Given the description of an element on the screen output the (x, y) to click on. 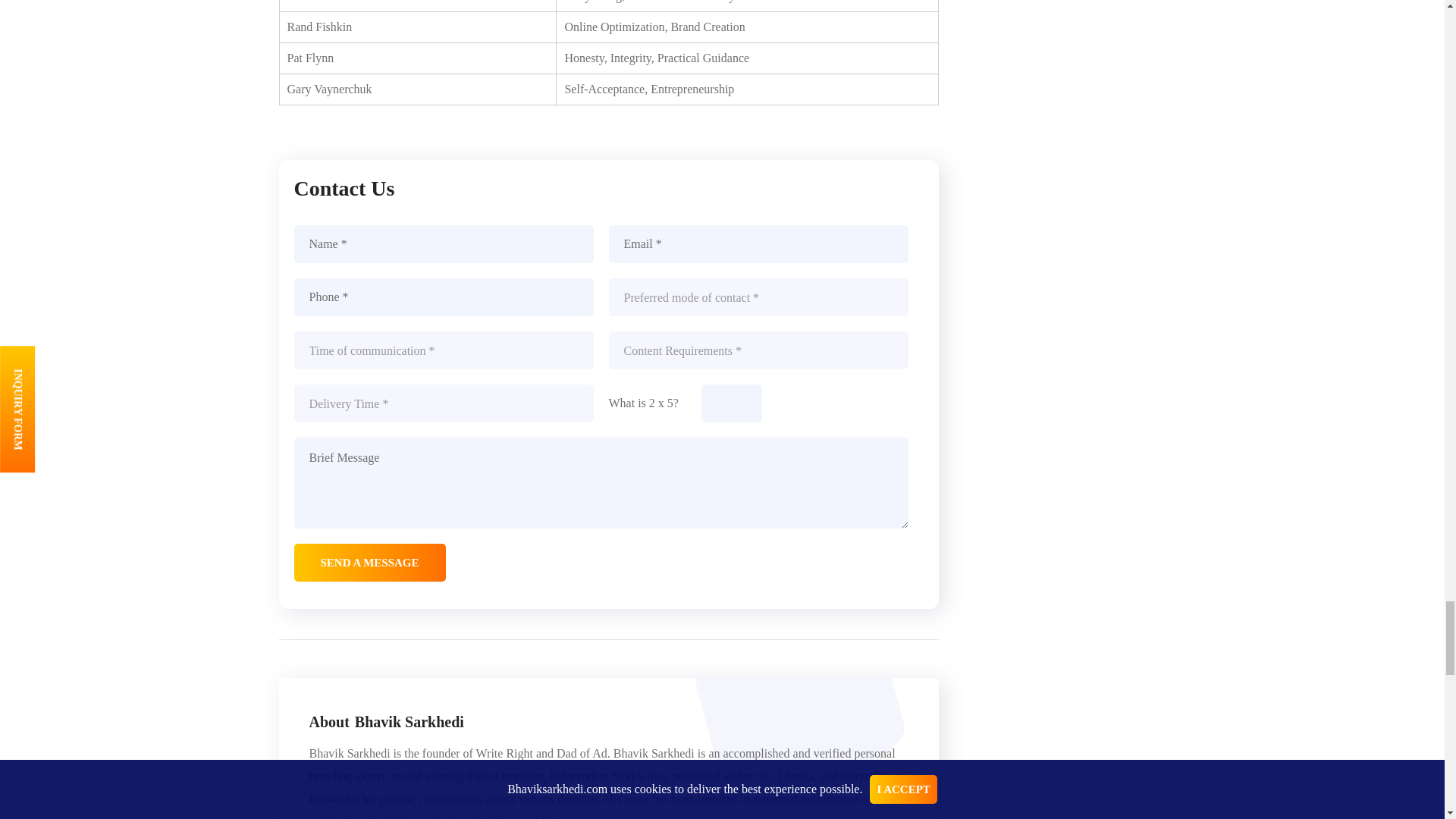
SEND A MESSAGE (369, 562)
